Given the description of an element on the screen output the (x, y) to click on. 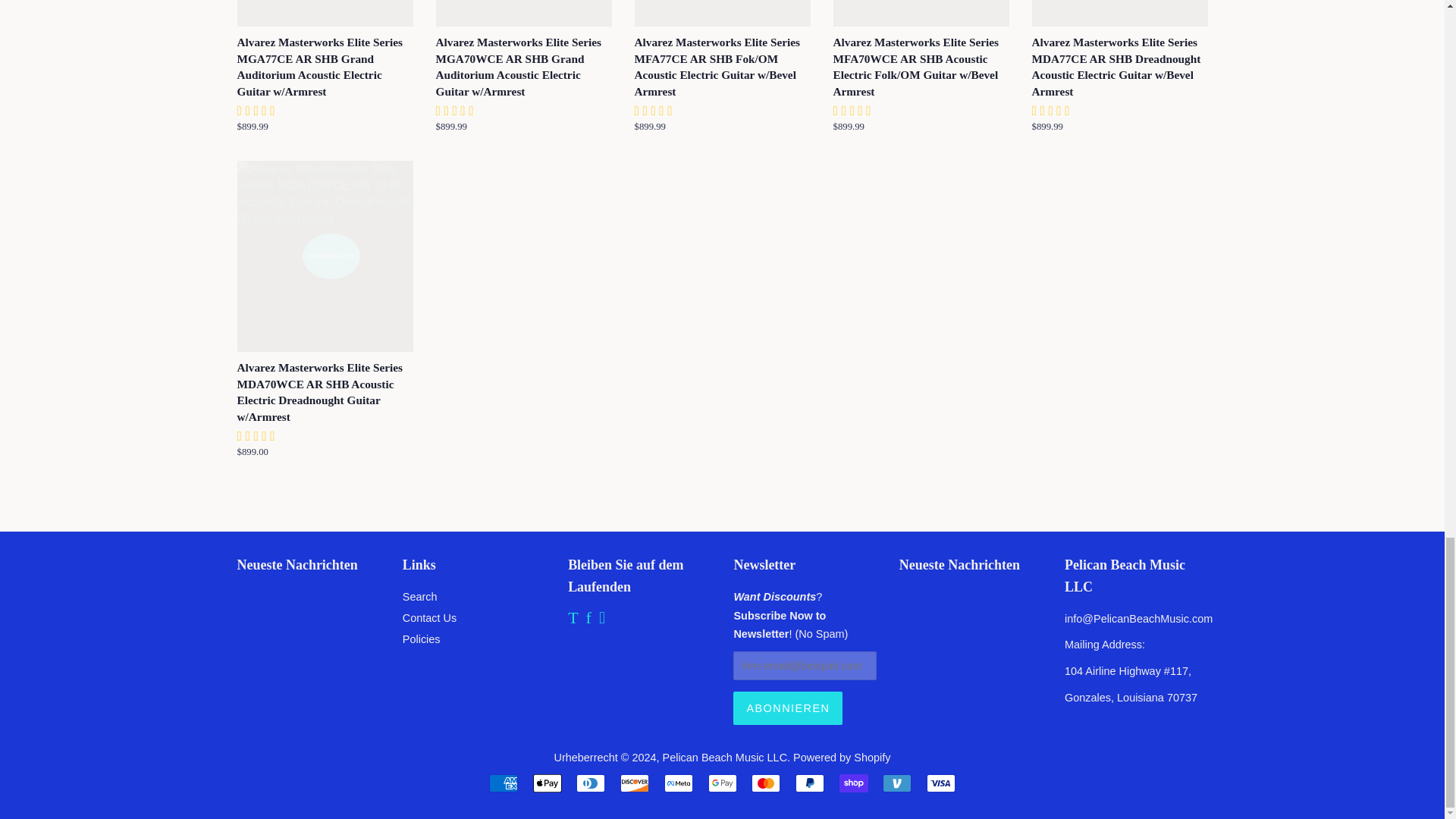
Abonnieren (788, 707)
Diners Club (590, 782)
Shop Pay (853, 782)
Mastercard (765, 782)
PayPal (809, 782)
Discover (634, 782)
Google Pay (721, 782)
Meta Pay (678, 782)
Venmo (896, 782)
Visa (940, 782)
Apple Pay (547, 782)
American Express (503, 782)
